Given the description of an element on the screen output the (x, y) to click on. 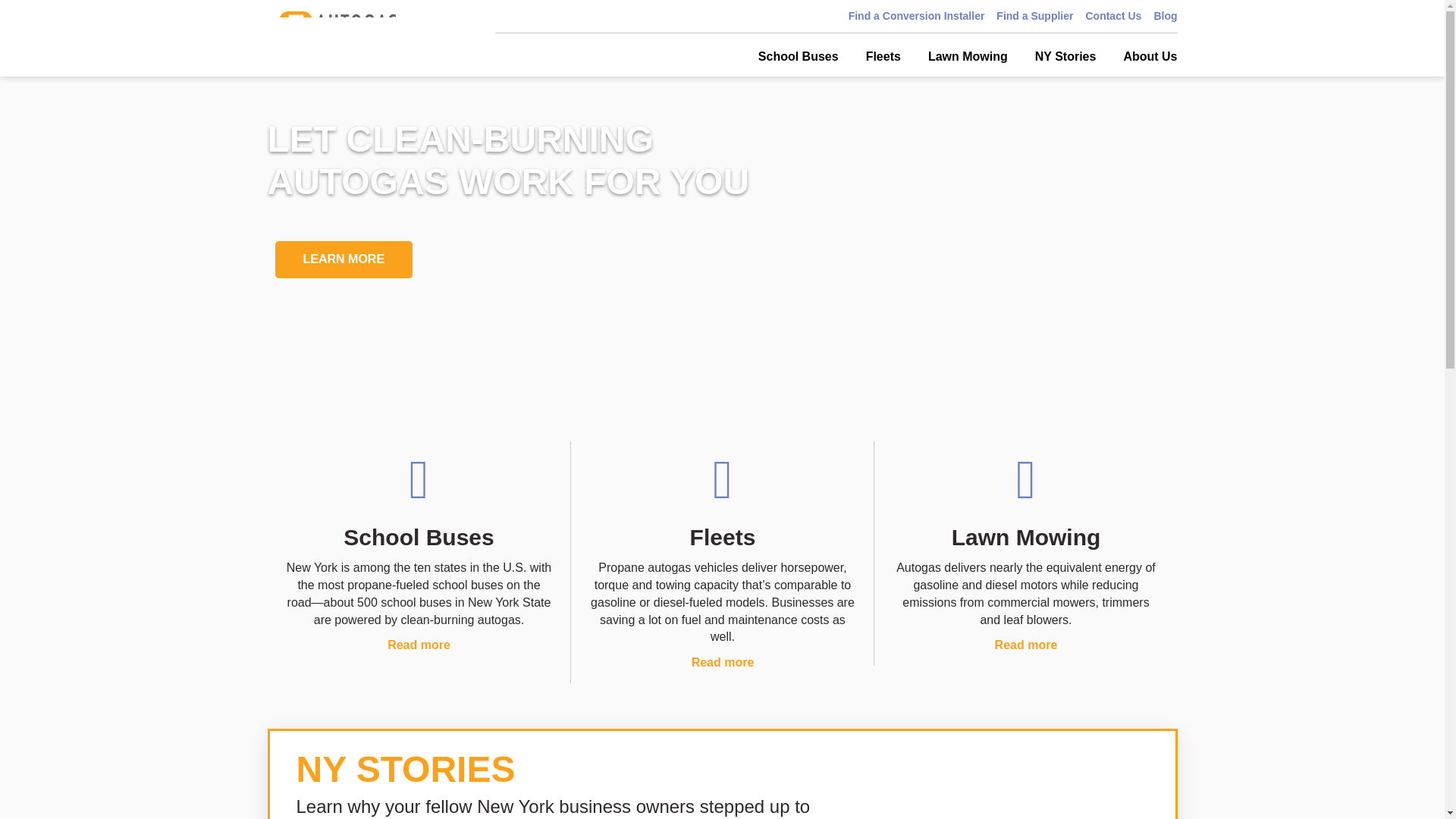
Find a Supplier (1034, 16)
Contact Us (1112, 16)
School Buses (798, 56)
Lawn Mowing (967, 56)
Read more (1026, 644)
Blog (1164, 16)
About Us (1149, 56)
Find a Conversion Installer (916, 16)
LEARN MORE (343, 259)
Fleets (883, 56)
NY Stories (1065, 56)
Read more (722, 662)
Read more (418, 644)
